Given the description of an element on the screen output the (x, y) to click on. 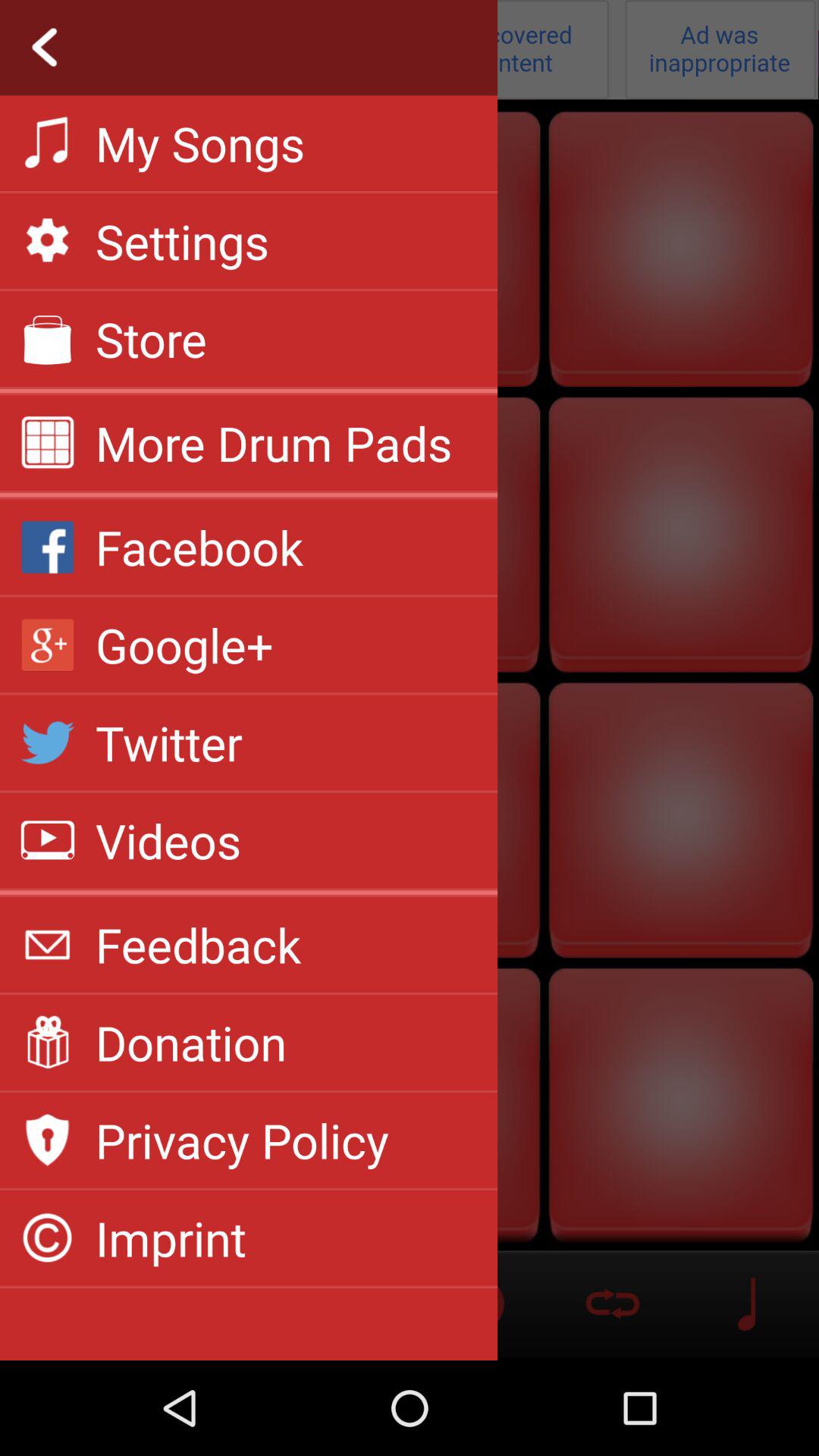
turn off the settings icon (182, 241)
